Given the description of an element on the screen output the (x, y) to click on. 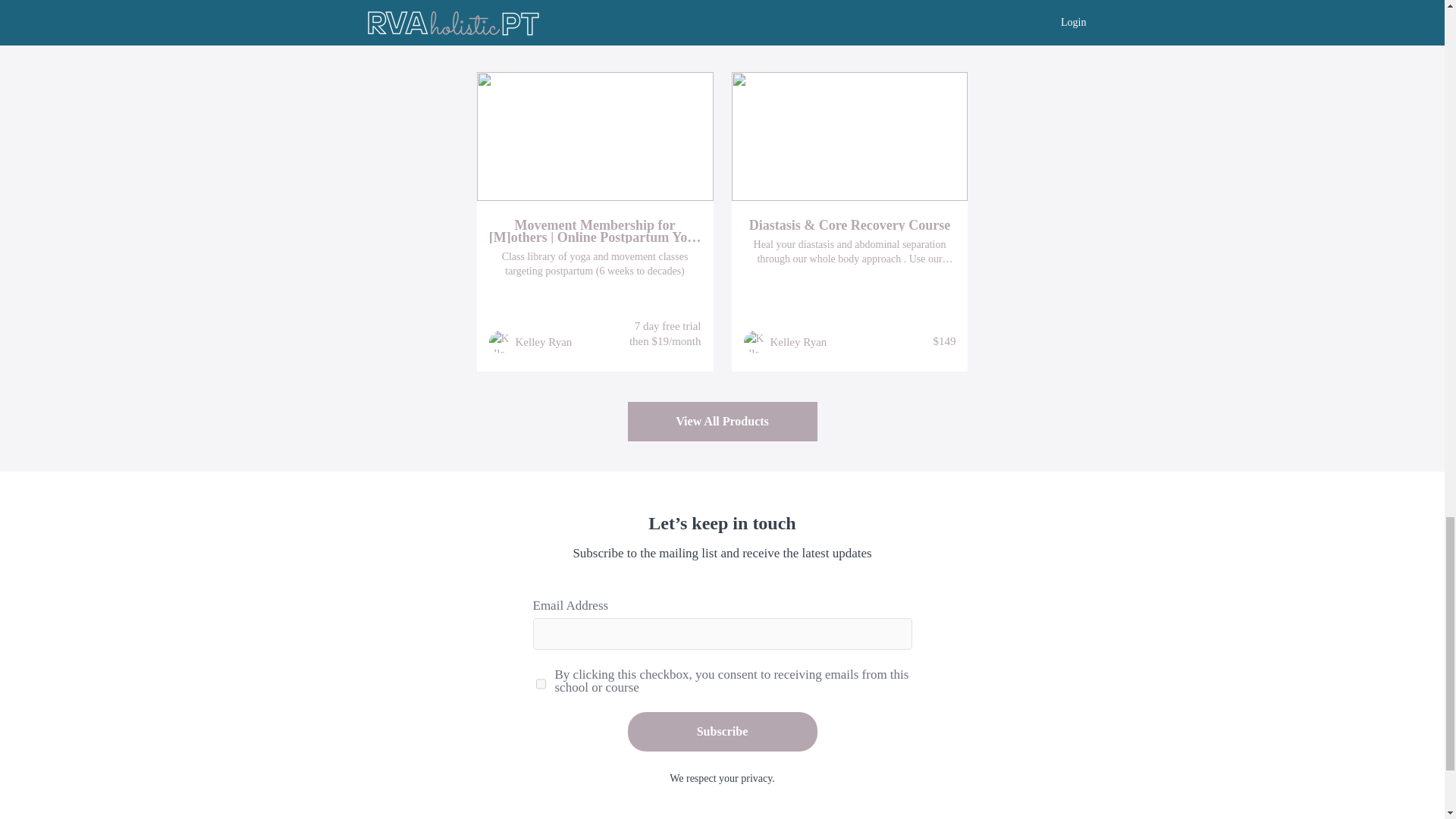
View All Products (721, 422)
Kelley Ryan (798, 341)
Subscribe (721, 731)
Kelley Ryan (543, 341)
View All Products (721, 421)
